Given the description of an element on the screen output the (x, y) to click on. 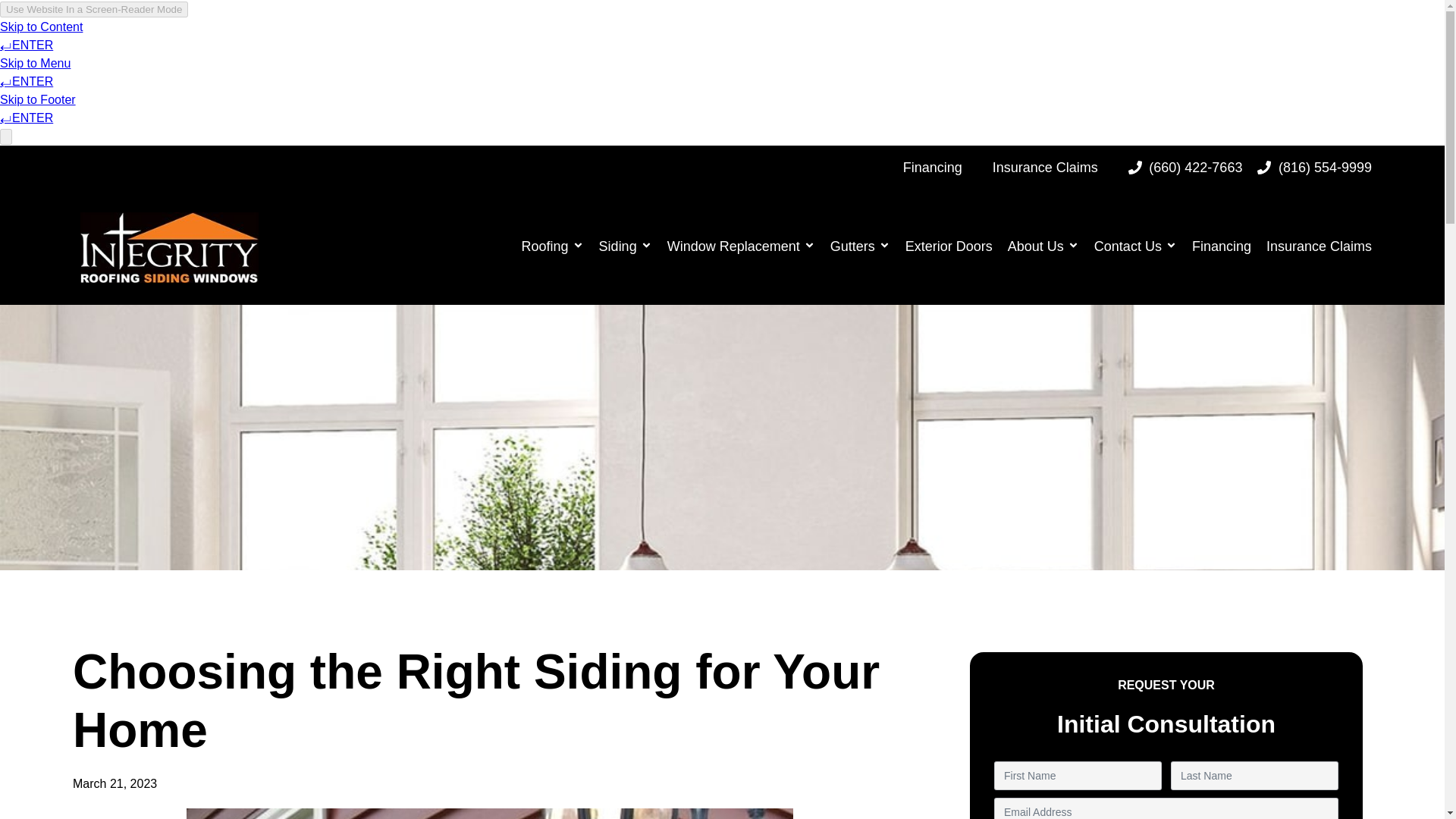
About Us (1043, 246)
Financing (1222, 246)
Insurance Claims (1044, 167)
Contact Us (1135, 246)
Siding (625, 246)
Window Replacement (740, 246)
Gutters (860, 246)
Financing (932, 167)
Insurance Claims (1318, 246)
Exterior Doors (949, 246)
Roofing (552, 246)
